Given the description of an element on the screen output the (x, y) to click on. 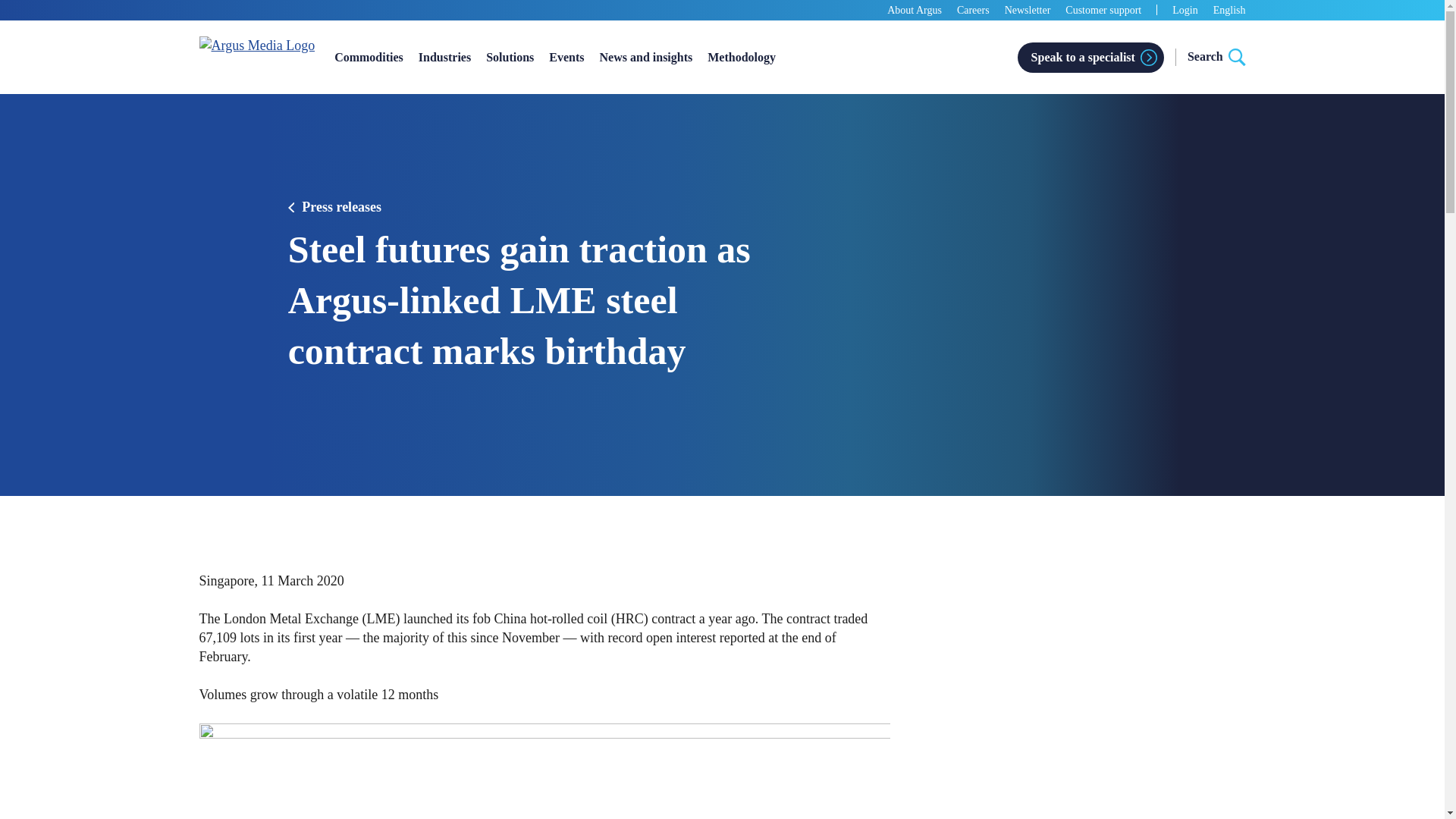
About Argus (914, 10)
Customer support (1103, 10)
Newsletter (1027, 10)
Careers (973, 10)
Commodities (368, 56)
Login (1184, 10)
English (1229, 10)
